Given the description of an element on the screen output the (x, y) to click on. 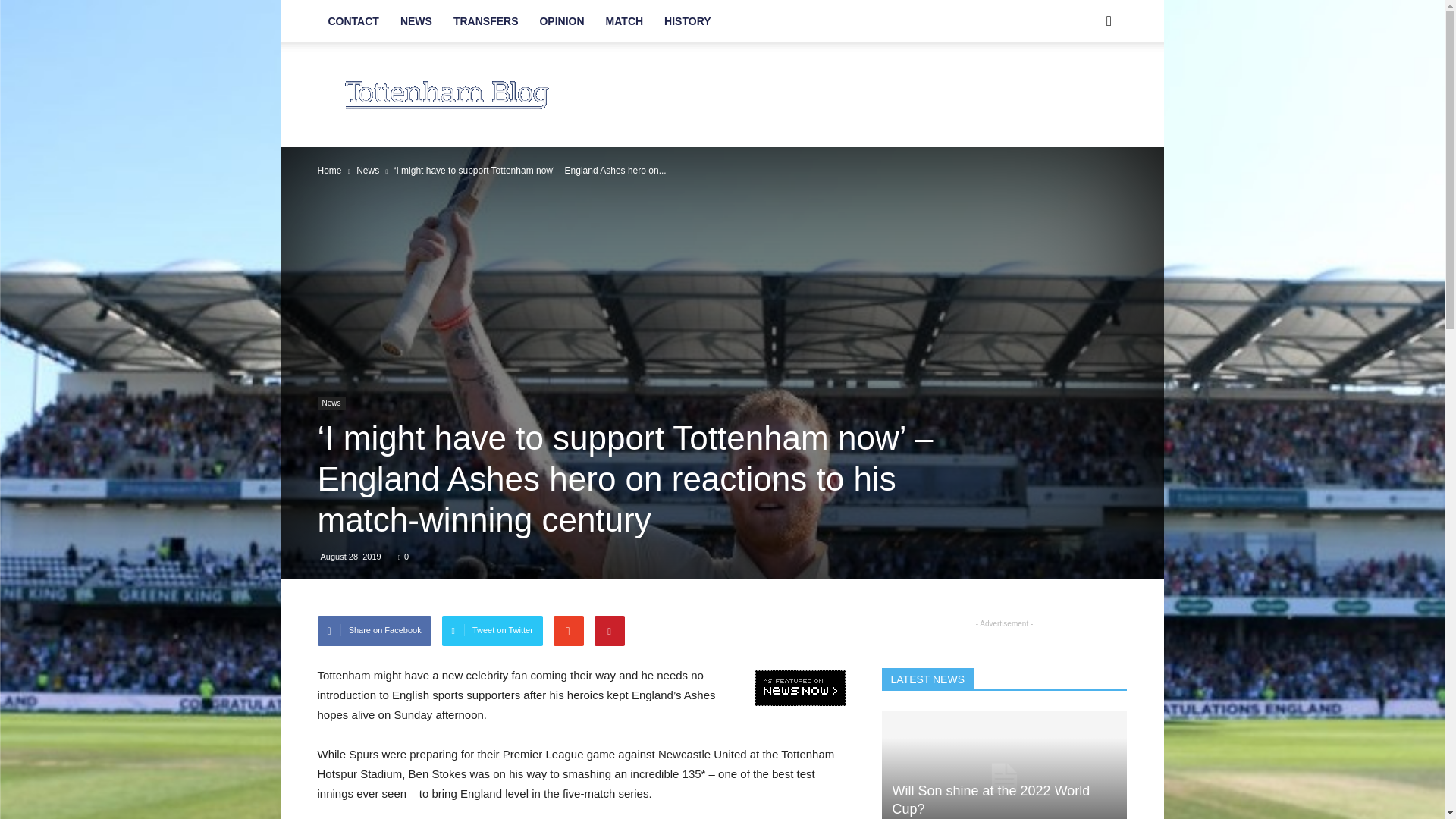
Share on Facebook (373, 630)
Home (328, 170)
News (367, 170)
MATCH (624, 21)
Will Son shine at the 2022 World Cup? (990, 799)
OPINION (561, 21)
HISTORY (686, 21)
0 (403, 556)
NEWS (416, 21)
Will Son shine at the 2022 World Cup? (1003, 764)
CONTACT (352, 21)
View all posts in News (367, 170)
TRANSFERS (485, 21)
Tweet on Twitter (492, 630)
News (331, 403)
